Given the description of an element on the screen output the (x, y) to click on. 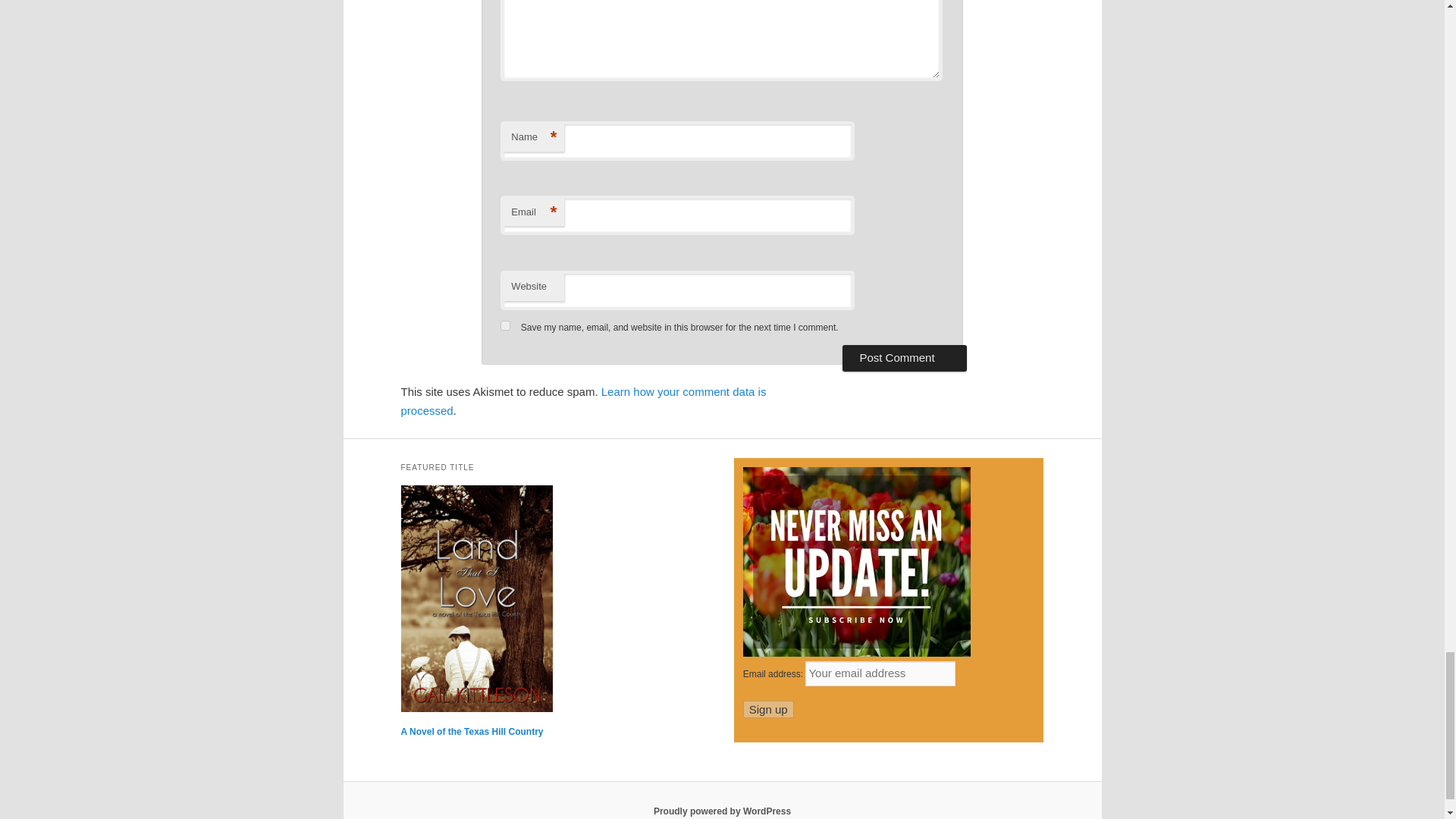
Post Comment (904, 357)
yes (505, 325)
Post Comment (904, 357)
Semantic Personal Publishing Platform (721, 810)
Sign up (767, 709)
